Given the description of an element on the screen output the (x, y) to click on. 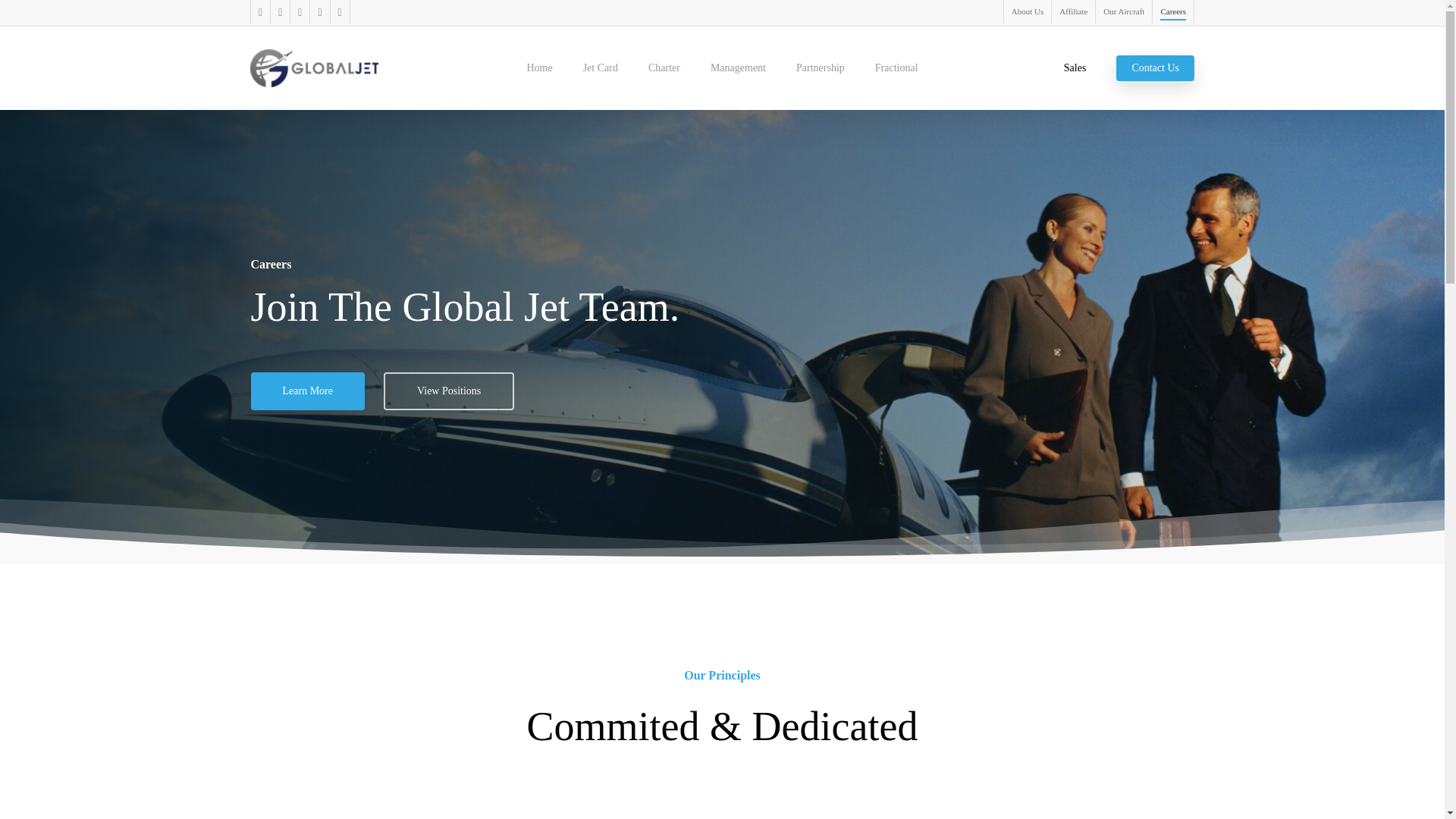
linkedin (279, 12)
Fractional (896, 68)
phone (318, 12)
View Positions (448, 391)
email (339, 12)
Home (538, 68)
Contact Us (1154, 68)
Management (737, 68)
Partnership (820, 68)
Learn More (307, 391)
Careers (1172, 11)
Charter (663, 68)
Sales (1075, 68)
About Us (1027, 11)
facebook (259, 12)
